Given the description of an element on the screen output the (x, y) to click on. 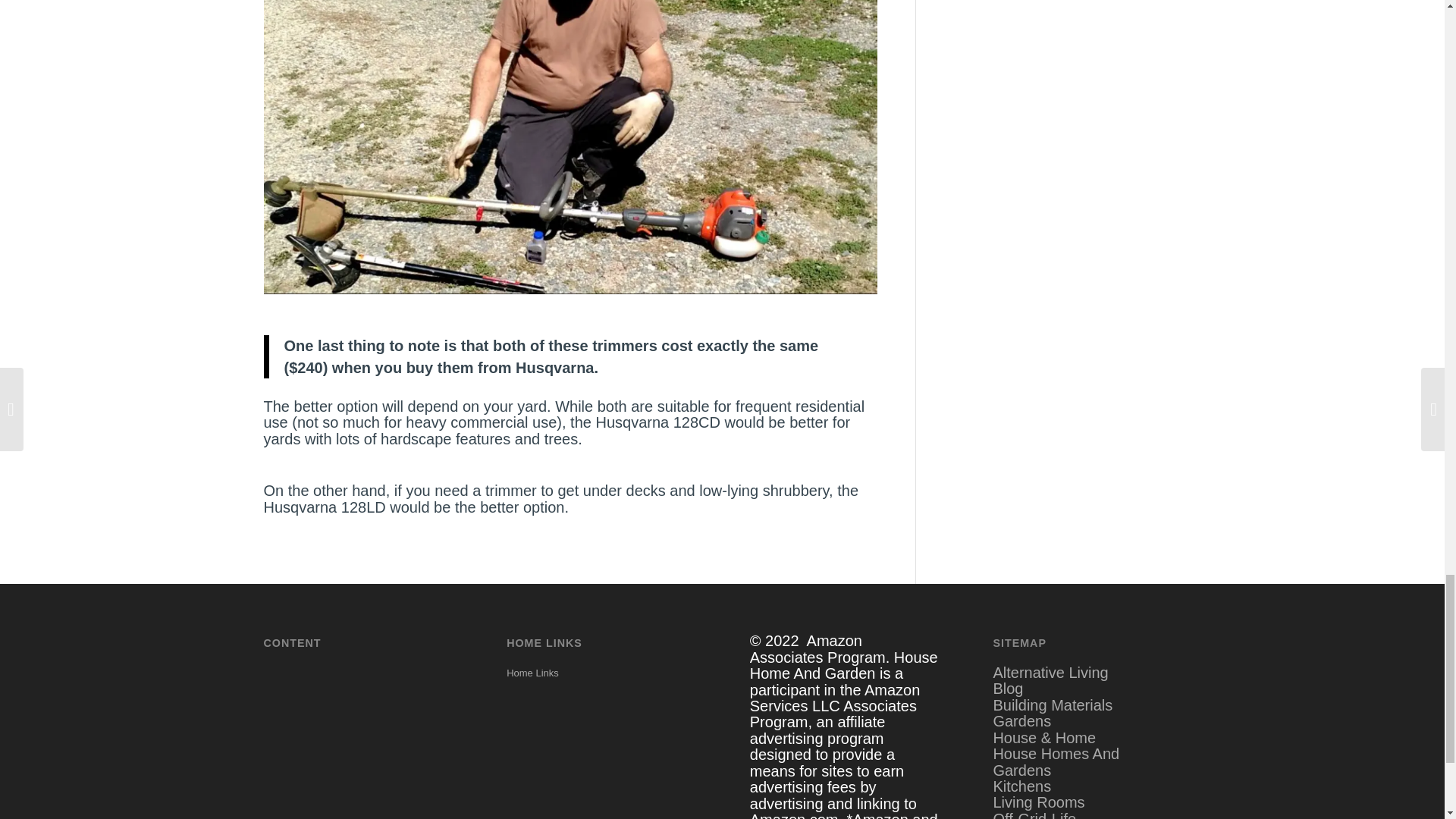
House Homes And Gardens (1055, 761)
Blog (1007, 688)
Gardens (1021, 720)
Kitchens (1021, 786)
Building Materials (1052, 704)
Off-Grid-Life (1033, 814)
Living Rooms (1038, 801)
Alternative Living (1050, 672)
